Given the description of an element on the screen output the (x, y) to click on. 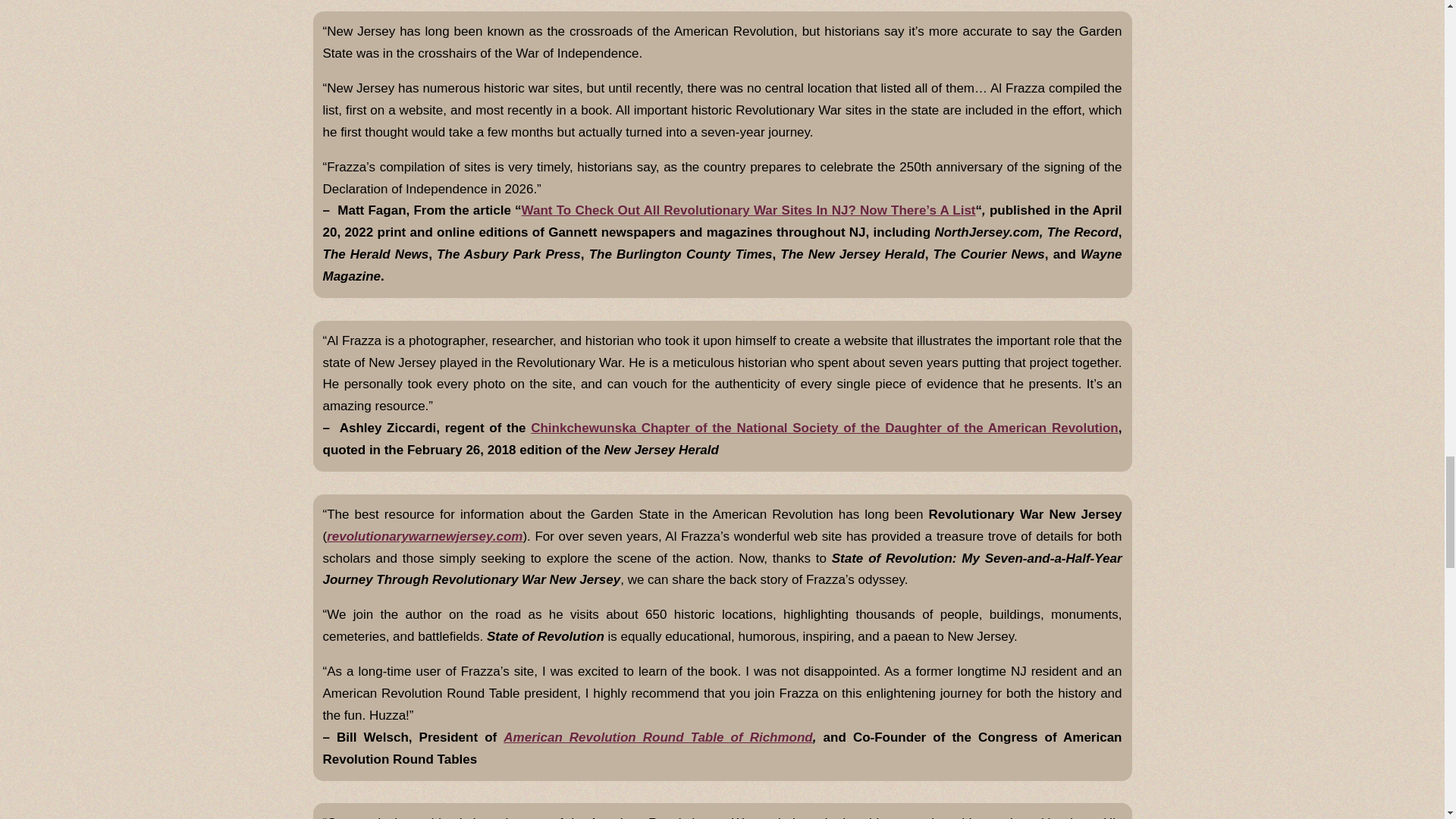
American Revolution Round Table of Richmond (657, 737)
revolutionarywarnewjersey.com (424, 536)
